Given the description of an element on the screen output the (x, y) to click on. 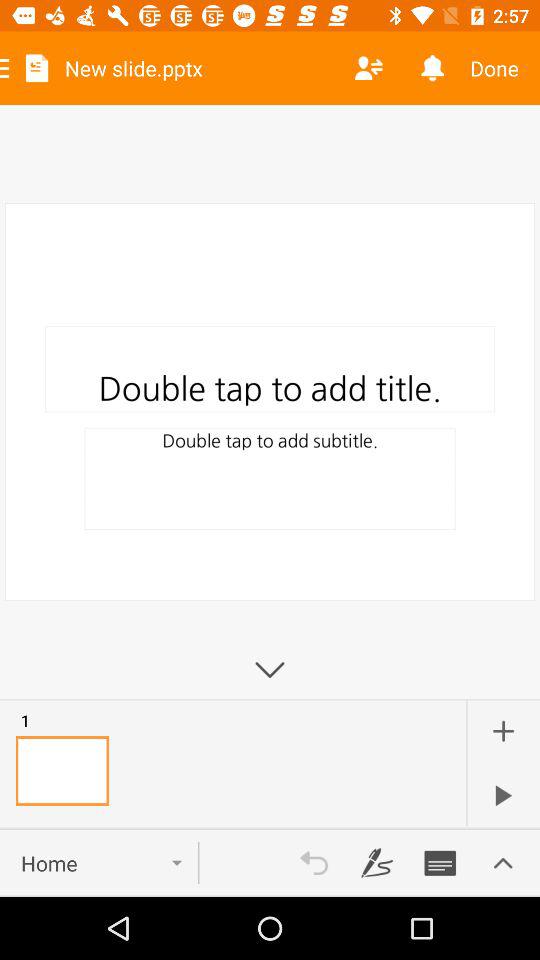
more options (503, 863)
